Given the description of an element on the screen output the (x, y) to click on. 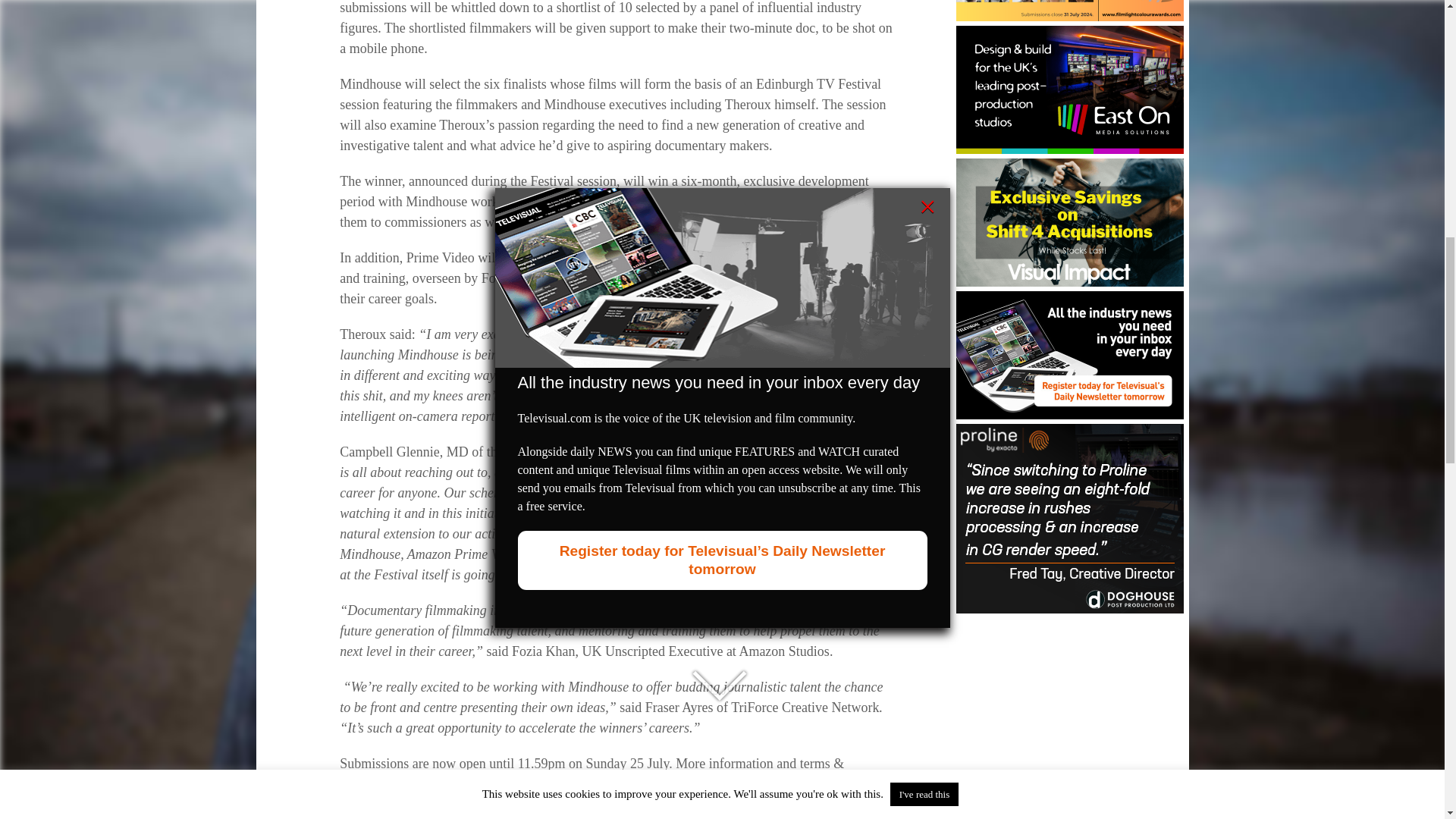
www.thetvfestival.com (554, 783)
